Given the description of an element on the screen output the (x, y) to click on. 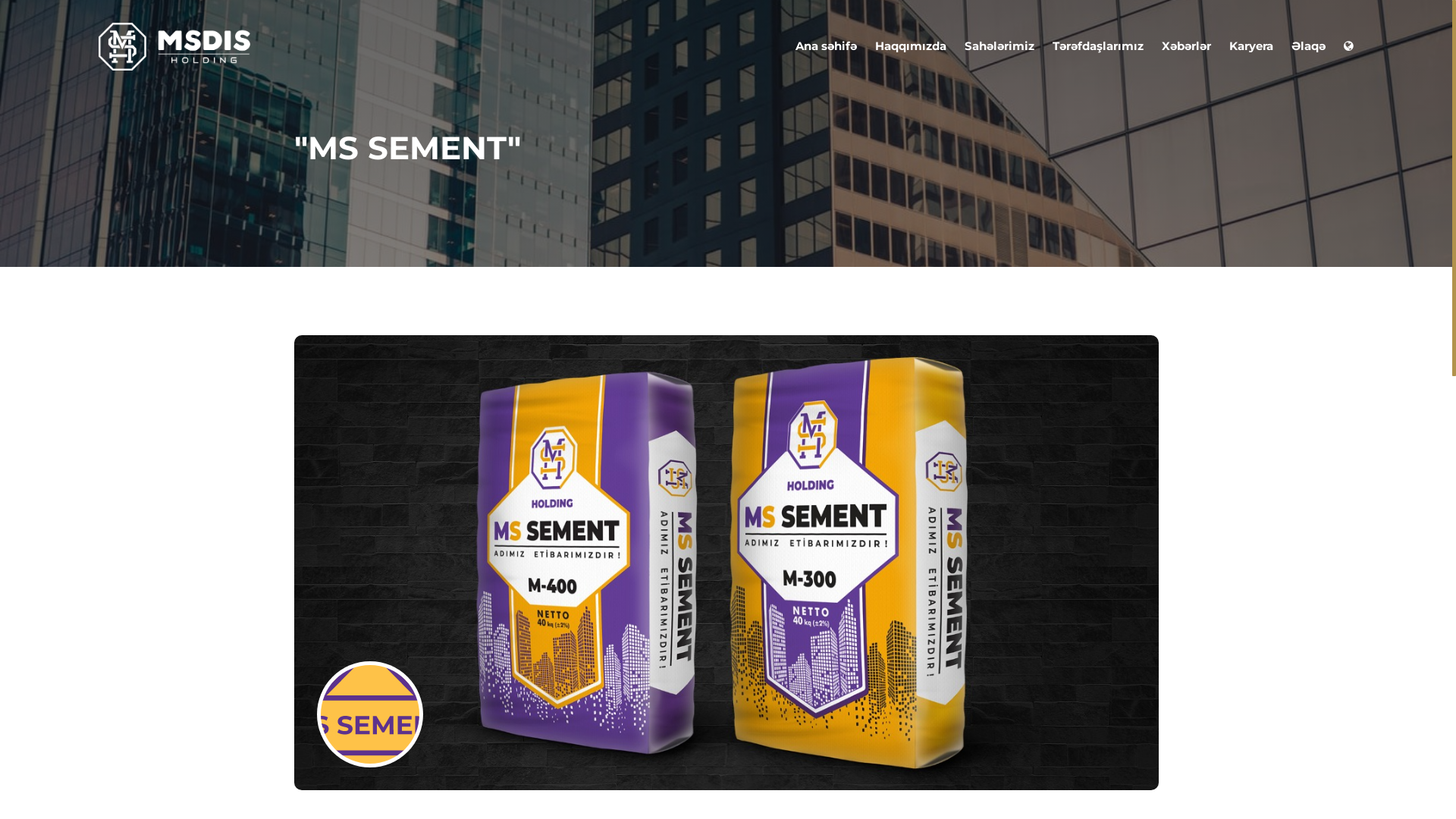
Karyera Element type: text (1251, 46)
